Given the description of an element on the screen output the (x, y) to click on. 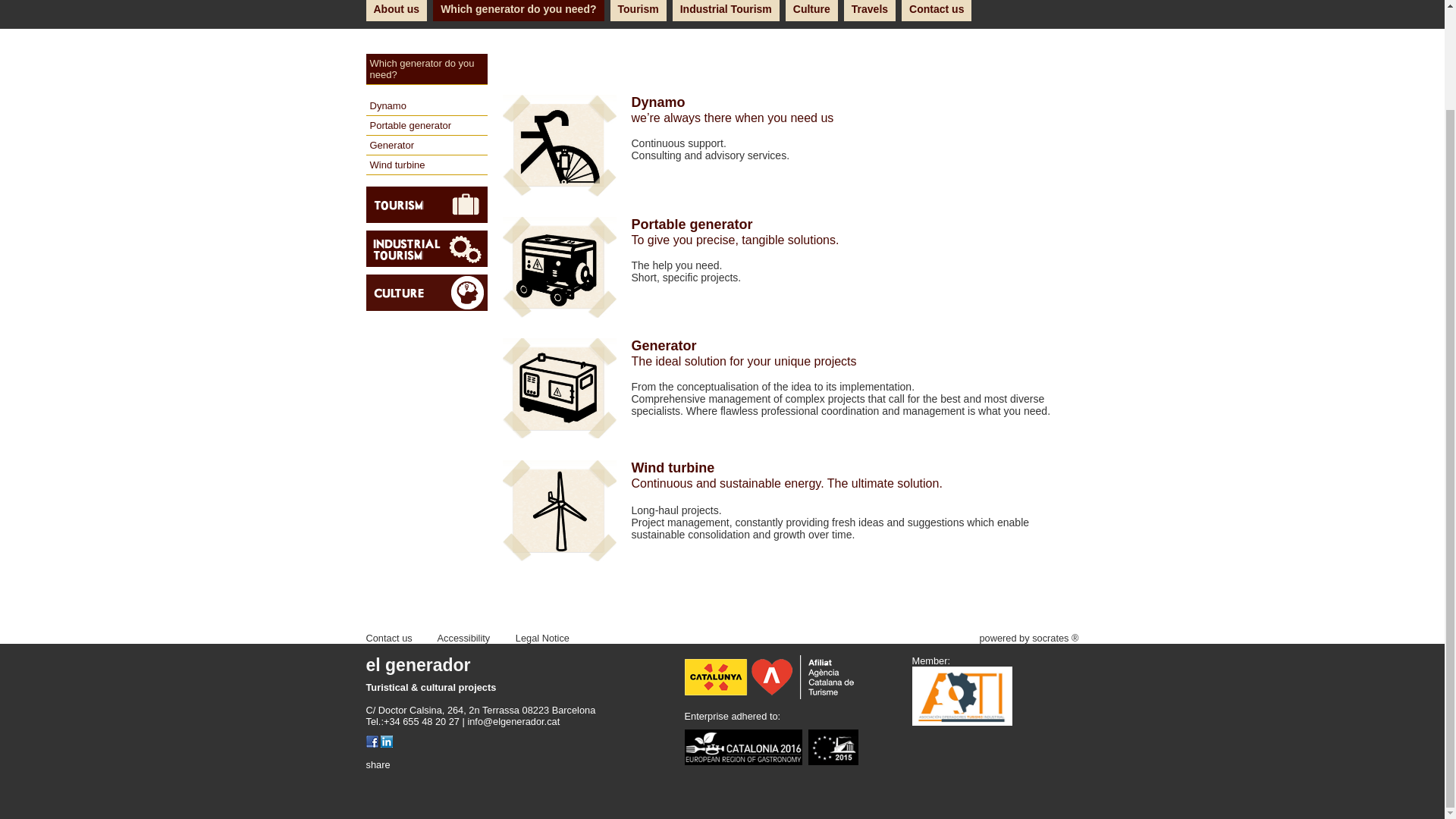
Wind turbine (790, 467)
Generator (790, 345)
Contact us (388, 637)
Dynamo (790, 102)
Generator (425, 145)
Which generator do you need? (425, 69)
Portable generator (790, 224)
Travels (869, 10)
Tourism (638, 10)
Accessibility (464, 637)
Portable generator (425, 125)
Wind turbine (425, 165)
